Given the description of an element on the screen output the (x, y) to click on. 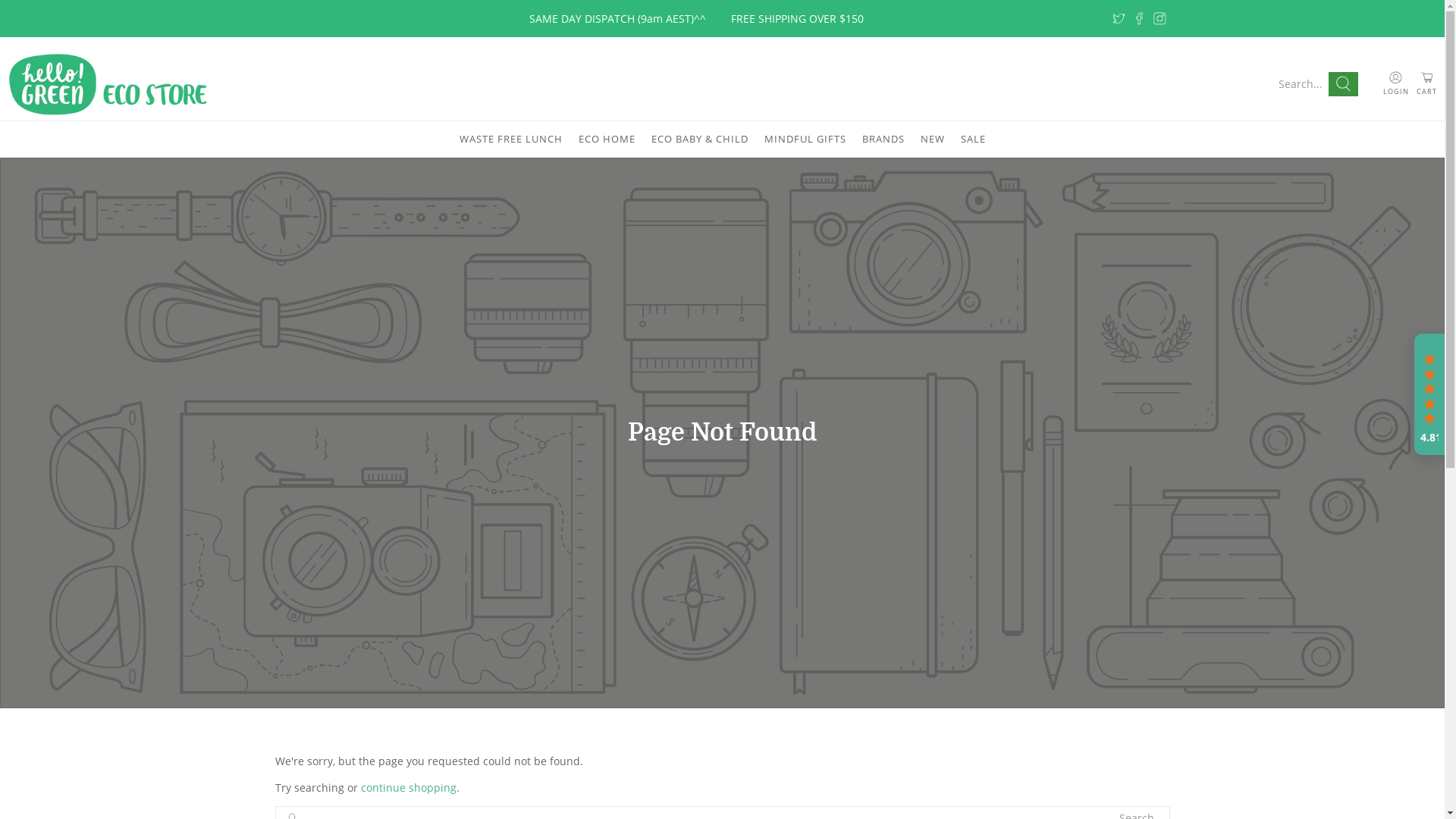
MINDFUL GIFTS Element type: text (804, 139)
Hello Green Element type: hover (109, 84)
Hello Green on Instagram Element type: hover (1159, 18)
WASTE FREE LUNCH Element type: text (510, 139)
ECO HOME Element type: text (606, 139)
Hello Green on Facebook Element type: hover (1138, 18)
CART Element type: text (1426, 83)
ECO BABY & CHILD Element type: text (699, 139)
NEW Element type: text (932, 139)
SALE Element type: text (972, 139)
Hello Green on Twitter Element type: hover (1118, 18)
continue shopping Element type: text (408, 787)
BRANDS Element type: text (882, 139)
LOGIN Element type: text (1395, 83)
